Given the description of an element on the screen output the (x, y) to click on. 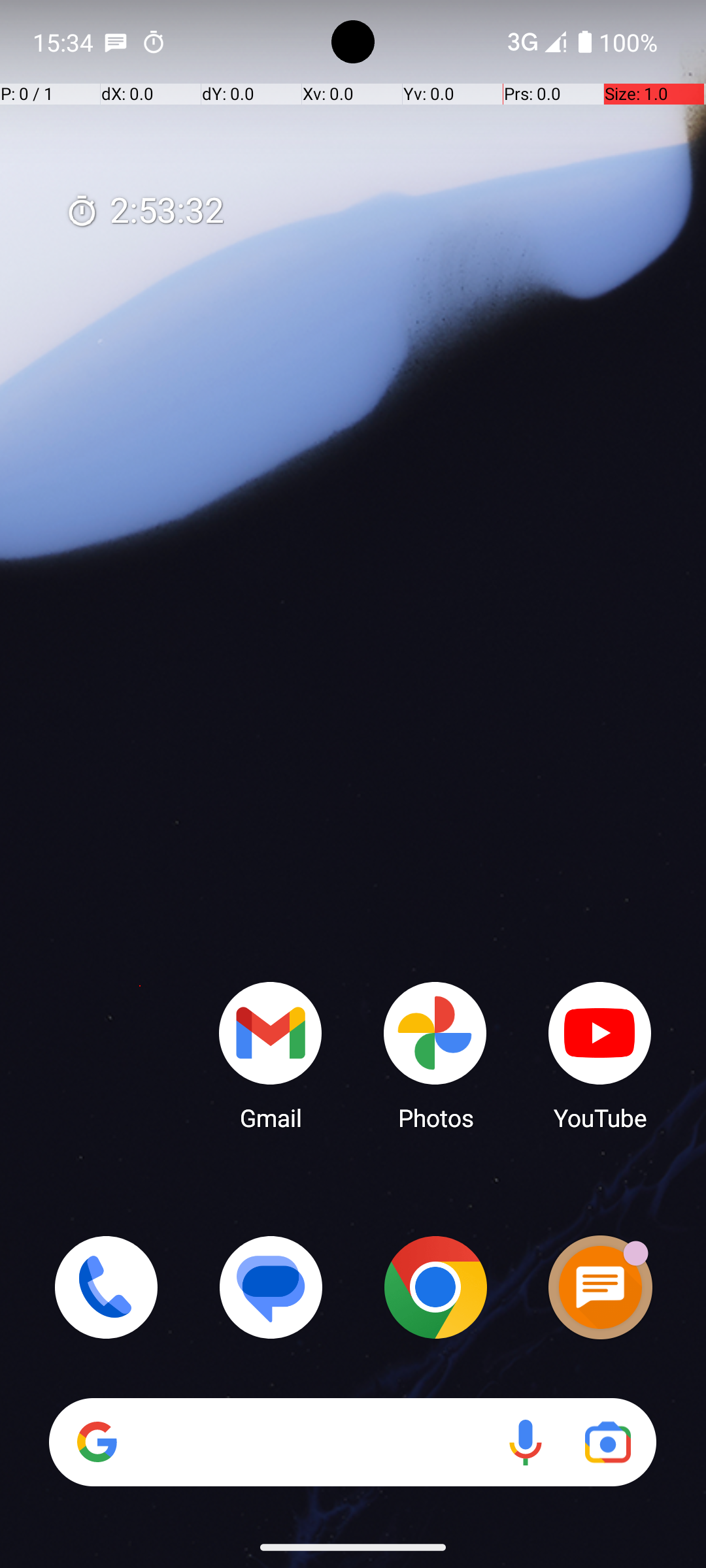
2:53:32 Element type: android.widget.TextView (144, 210)
